Given the description of an element on the screen output the (x, y) to click on. 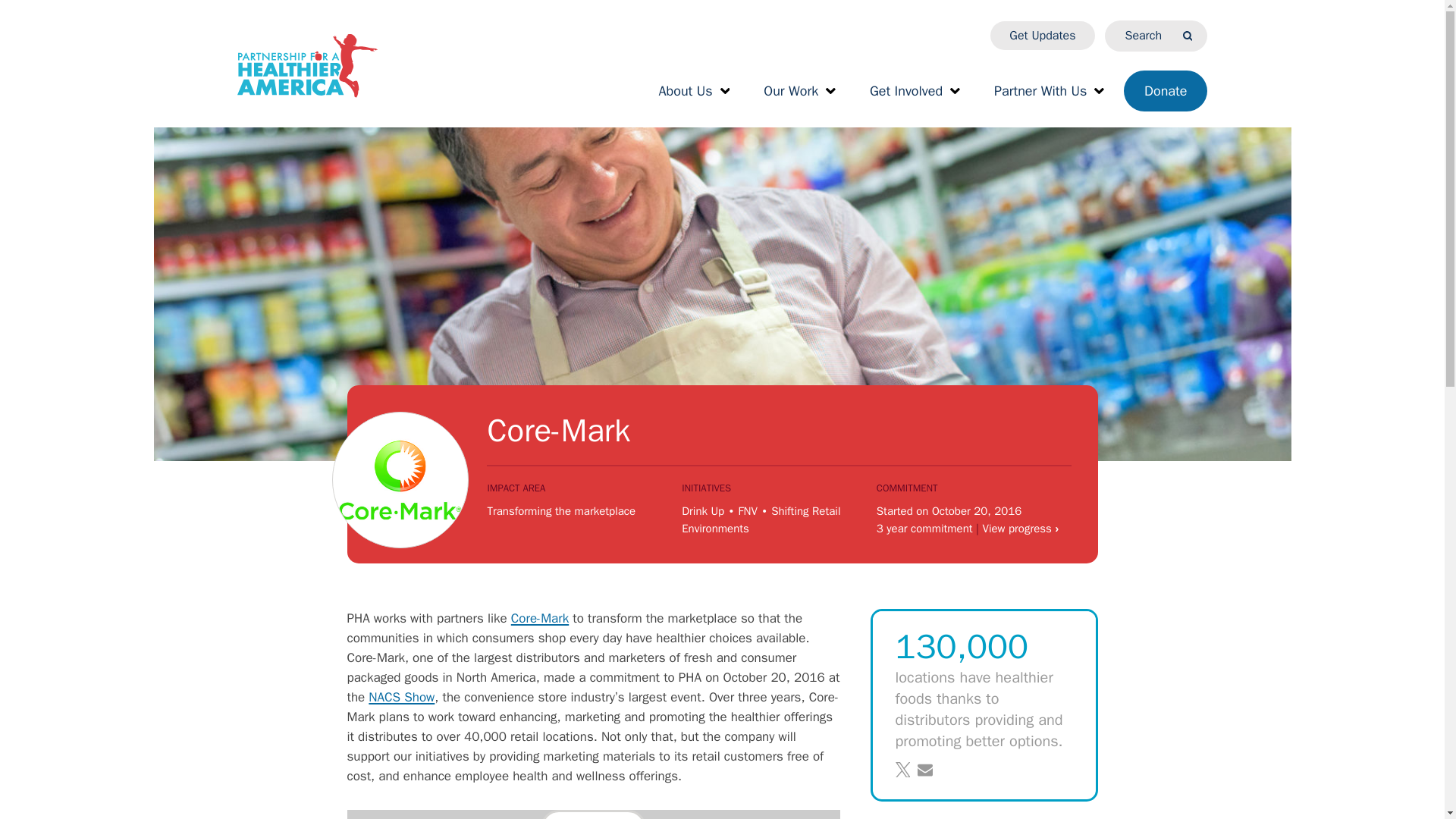
Get Updates (1042, 35)
NACS Show (400, 697)
Our Work (798, 90)
Transforming the marketplace (560, 510)
Drink Up (702, 510)
Partner With Us (1048, 90)
Shifting Retail Environments (760, 519)
FNV (747, 510)
Get Involved (914, 90)
About Us (693, 90)
